Given the description of an element on the screen output the (x, y) to click on. 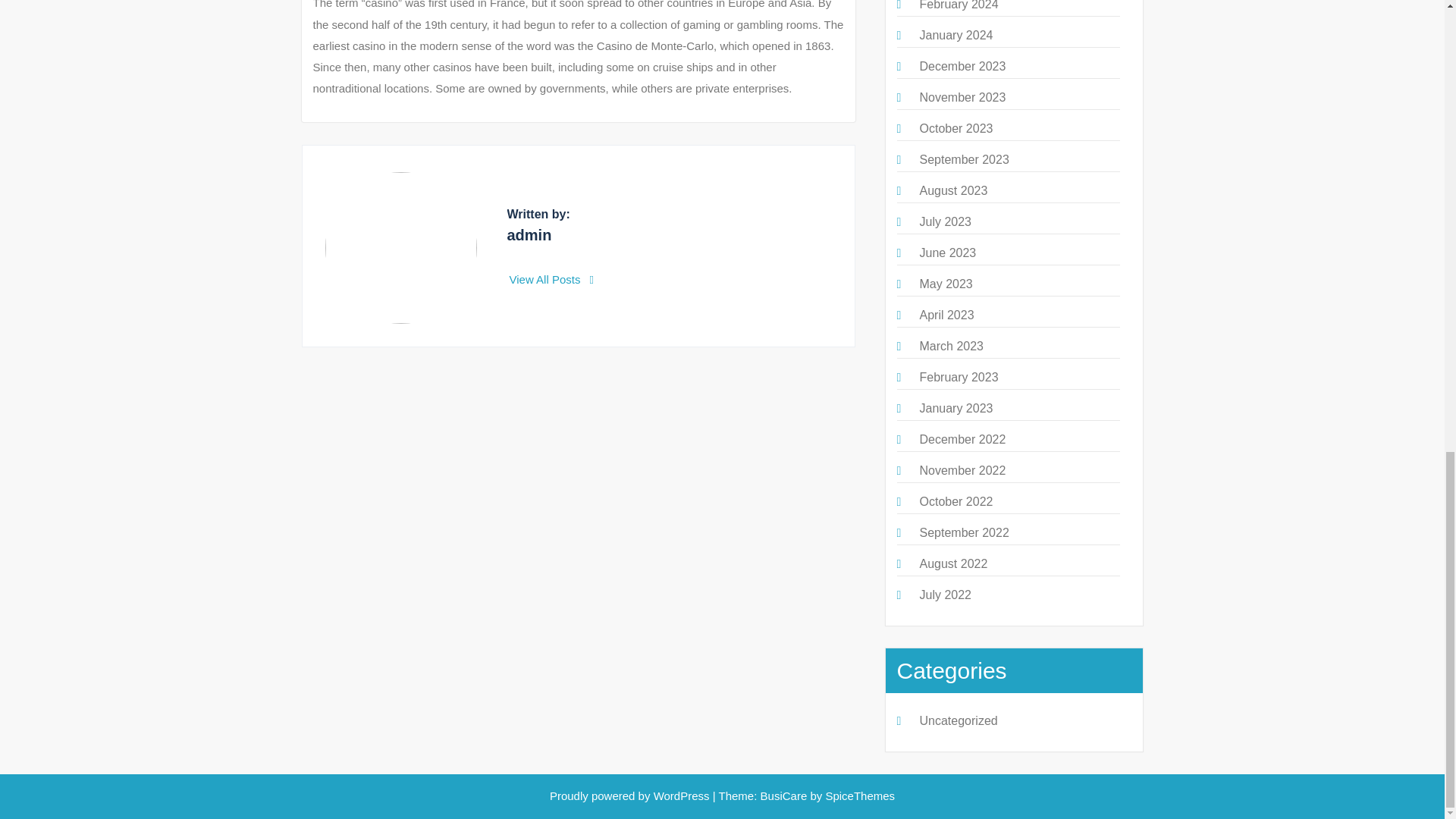
November 2023 (962, 97)
July 2022 (944, 594)
October 2022 (955, 501)
November 2022 (962, 470)
January 2024 (955, 34)
May 2023 (945, 283)
June 2023 (946, 252)
WordPress (681, 795)
March 2023 (951, 345)
December 2023 (962, 65)
